Given the description of an element on the screen output the (x, y) to click on. 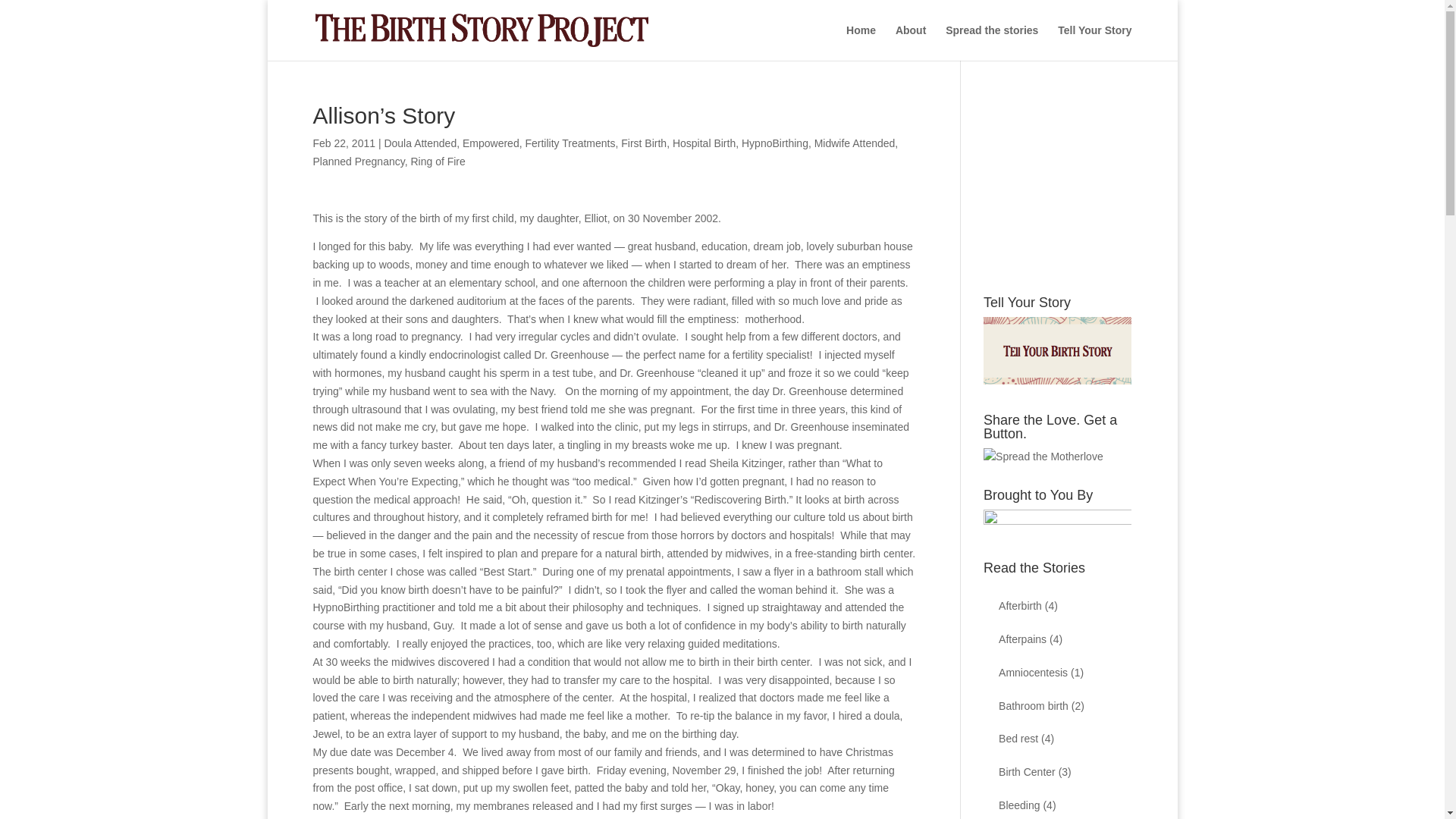
Midwife Attended (854, 143)
Birth Center (1026, 771)
Fertility Treatments (569, 143)
Amniocentesis (1032, 672)
HypnoBirthing (774, 143)
Ring of Fire (437, 161)
Hospital Birth (703, 143)
Doula Attended (420, 143)
Afterpains (1022, 639)
Bathroom birth (1033, 705)
Afterbirth (1020, 605)
First Birth (643, 143)
Planned Pregnancy (358, 161)
Empowered (491, 143)
Tell Your Story (1094, 42)
